Given the description of an element on the screen output the (x, y) to click on. 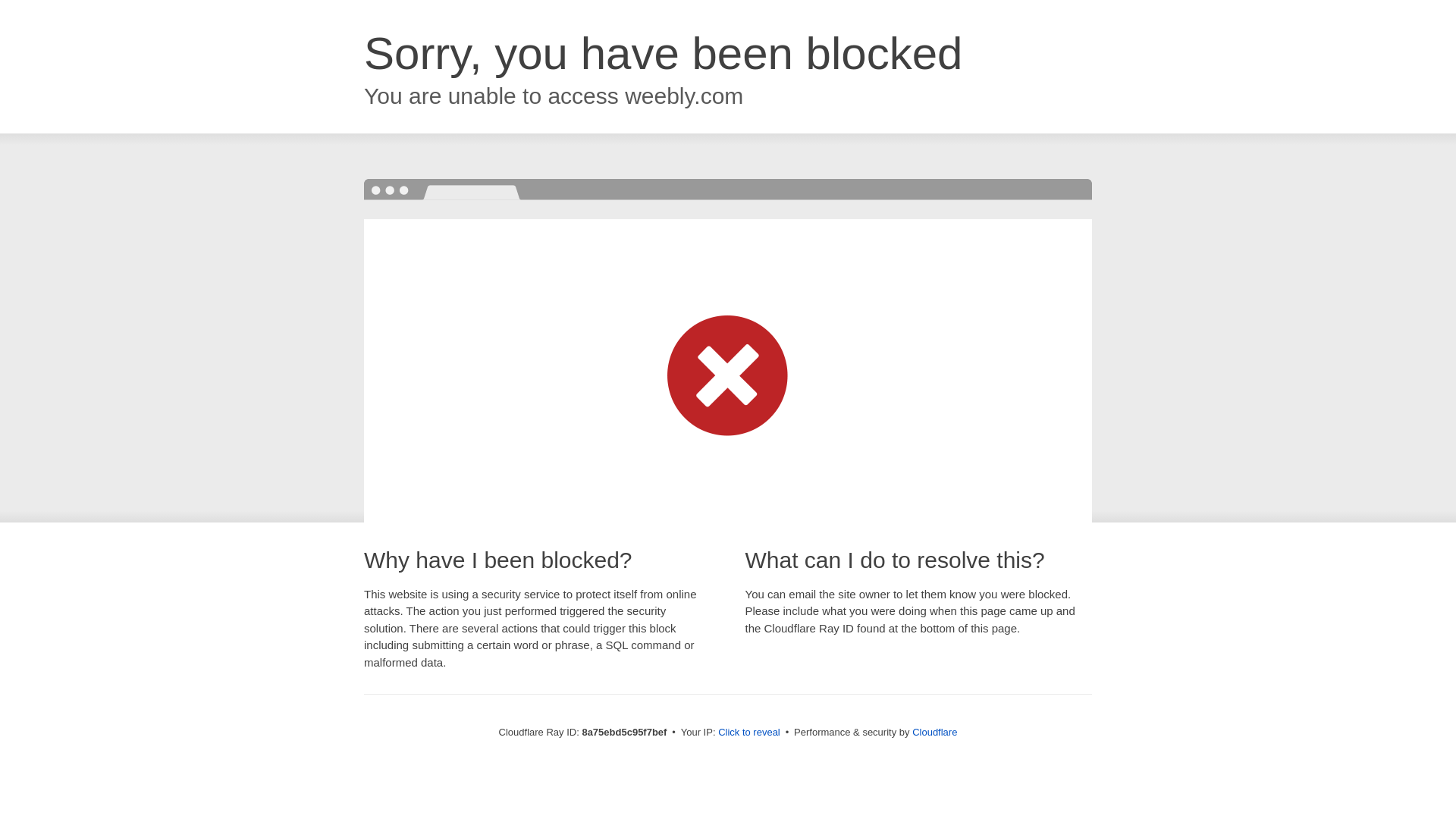
Cloudflare (934, 731)
Click to reveal (748, 732)
